Given the description of an element on the screen output the (x, y) to click on. 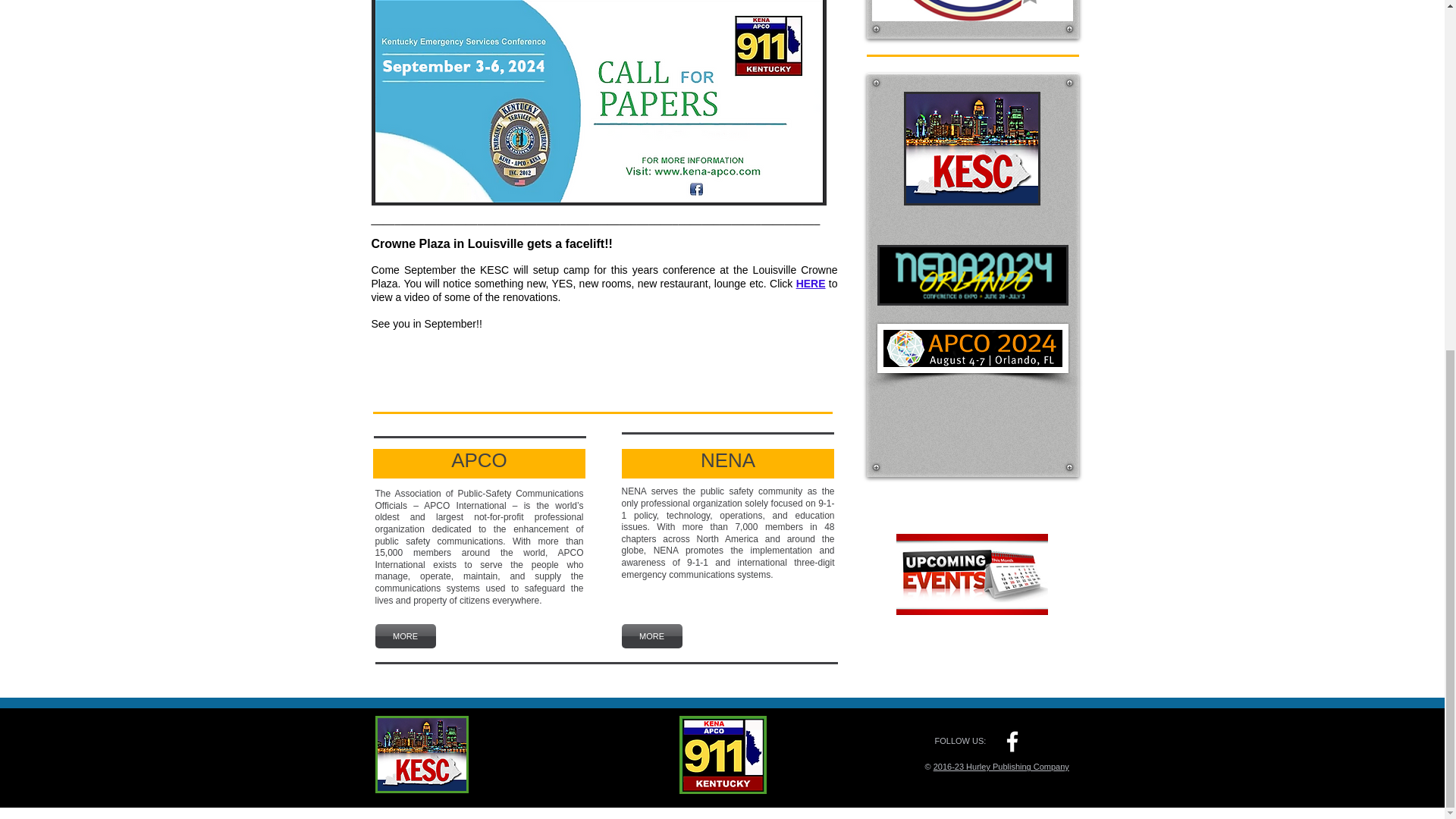
2016-23 Hurley Publishing Company (1000, 766)
MORE (404, 636)
Click here for Details (972, 148)
HERE (810, 283)
MORE (651, 636)
